Given the description of an element on the screen output the (x, y) to click on. 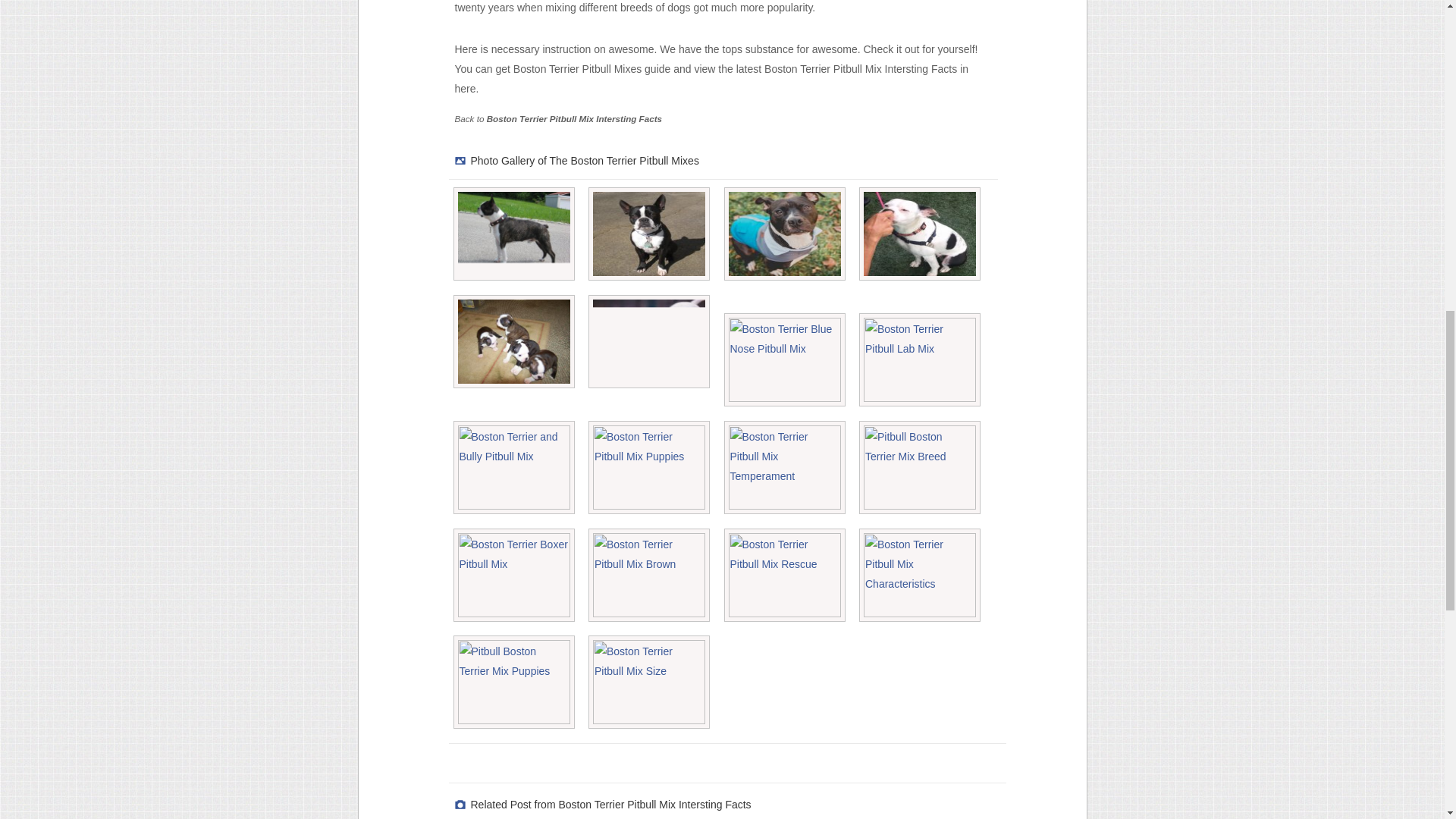
here (465, 88)
Return to Boston Terrier Pitbull Mix Intersting Facts (574, 118)
Boston Terrier Pitbull Mix Intersting Facts (574, 118)
